Given the description of an element on the screen output the (x, y) to click on. 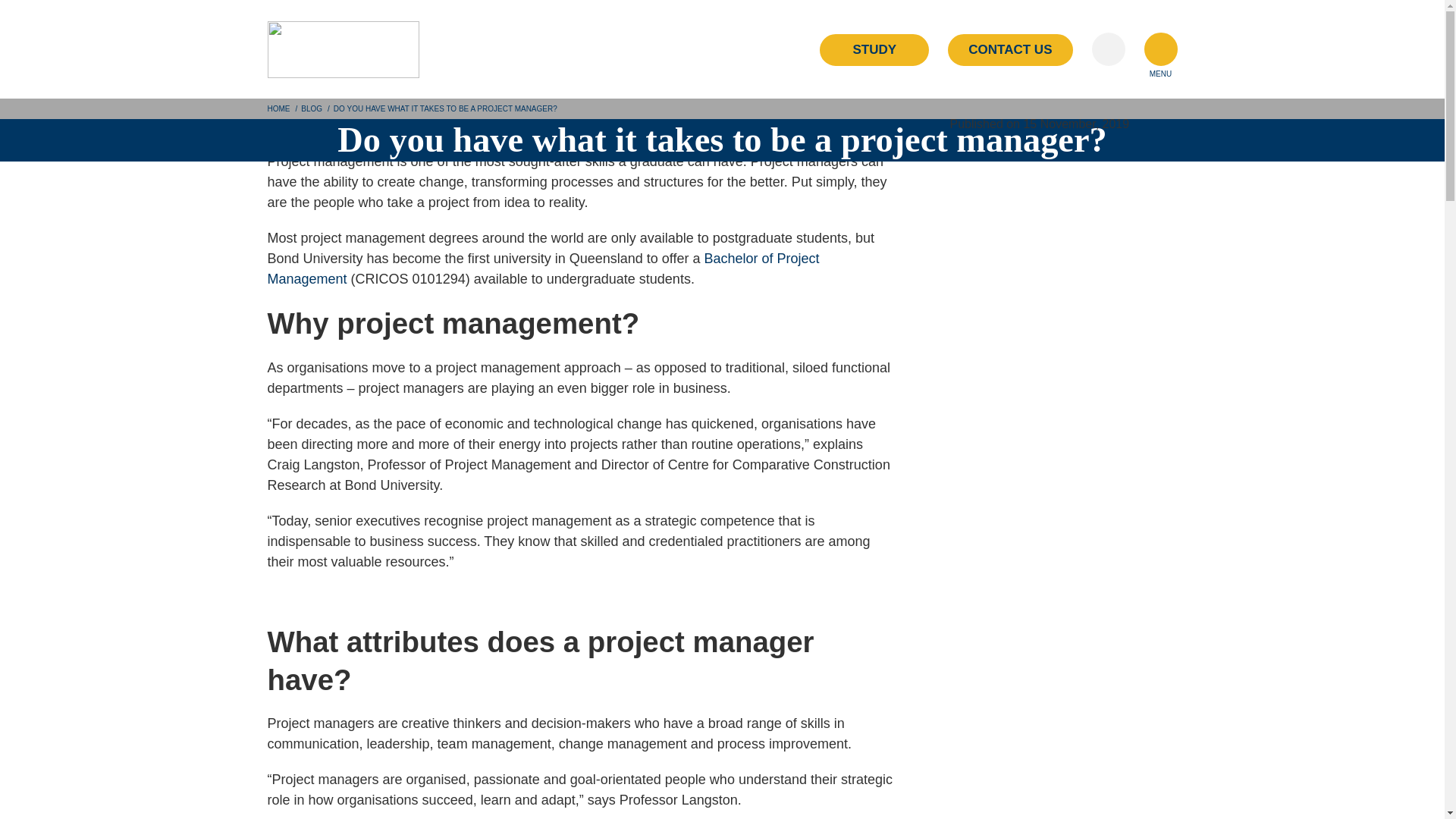
STUDY (873, 50)
Bond University (342, 49)
HOME (277, 108)
BLOG (311, 108)
MENU (1159, 49)
Skip to main content (61, 10)
Bachelor of Project Management (542, 268)
Search (1108, 49)
CONTACT US (1009, 50)
Start of main content. (64, 108)
